Given the description of an element on the screen output the (x, y) to click on. 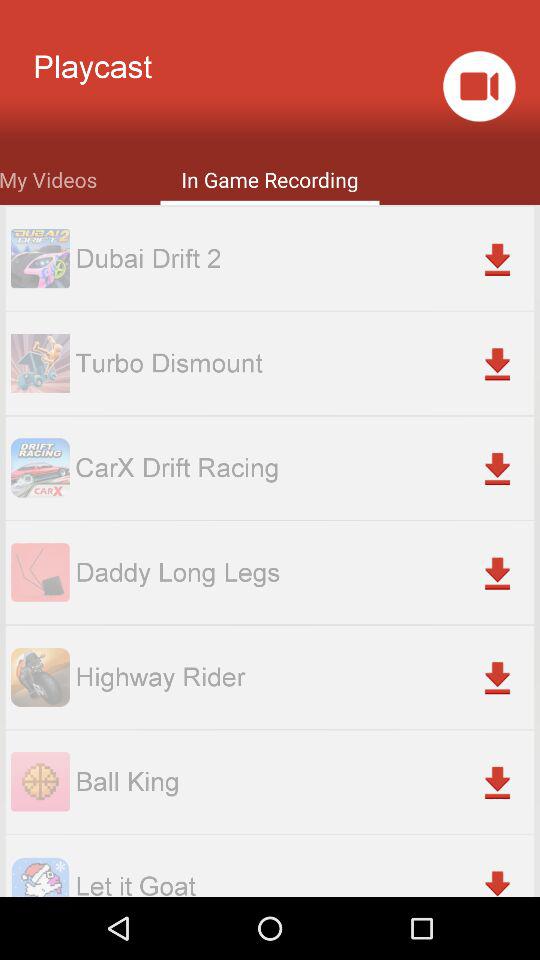
flip to the highway rider icon (304, 676)
